Given the description of an element on the screen output the (x, y) to click on. 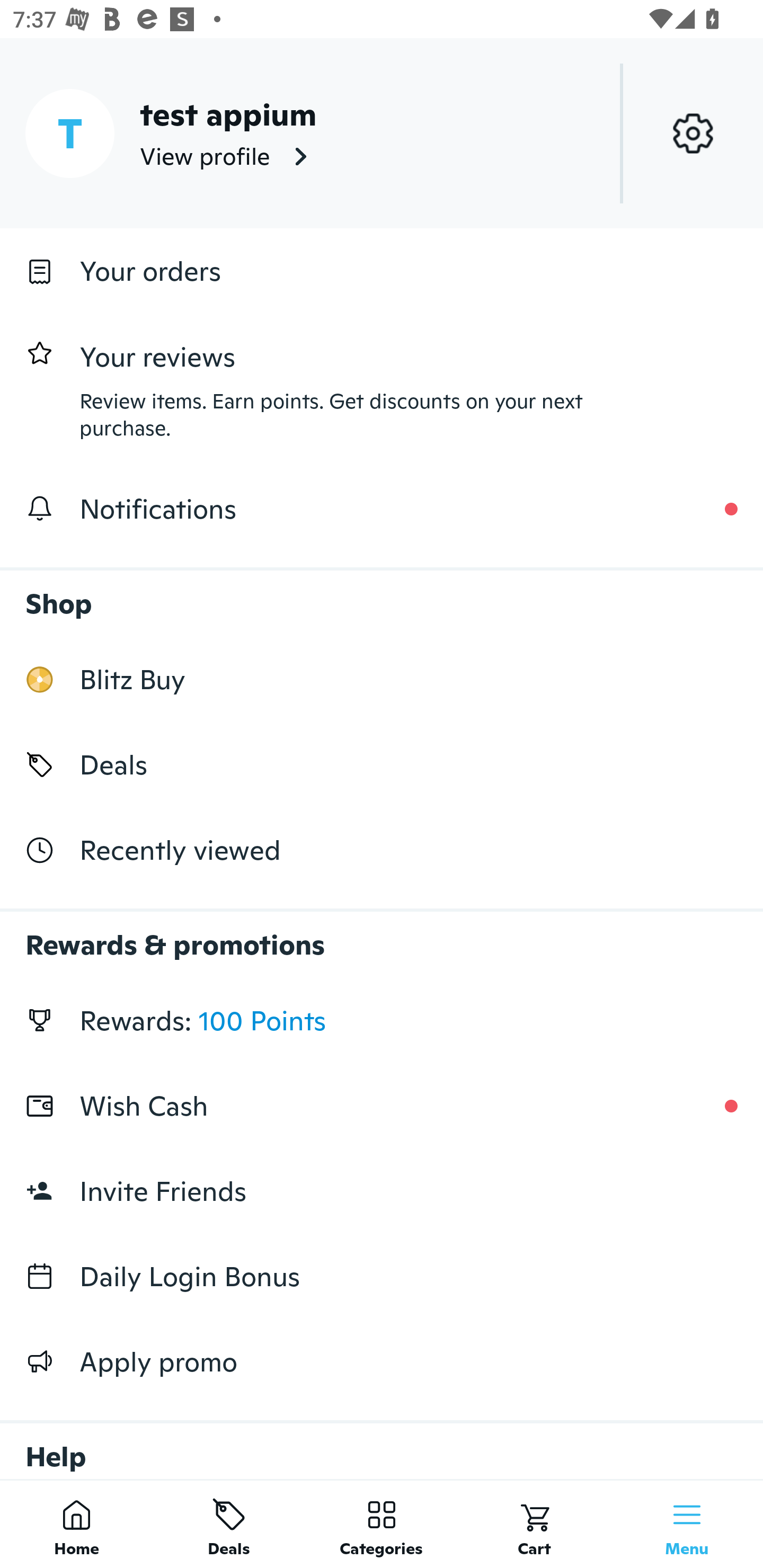
T test appium View profile (381, 132)
Your orders (381, 270)
Notifications (381, 508)
Shop (381, 593)
Blitz Buy (381, 679)
Deals (381, 764)
Recently viewed (381, 850)
Rewards & promotions (381, 935)
Rewards: 100 Points (381, 1020)
Wish Cash (381, 1106)
Invite Friends (381, 1190)
Daily Login Bonus (381, 1277)
Apply promo (381, 1361)
Help (381, 1441)
Home (76, 1523)
Deals (228, 1523)
Categories (381, 1523)
Cart (533, 1523)
Menu (686, 1523)
